Given the description of an element on the screen output the (x, y) to click on. 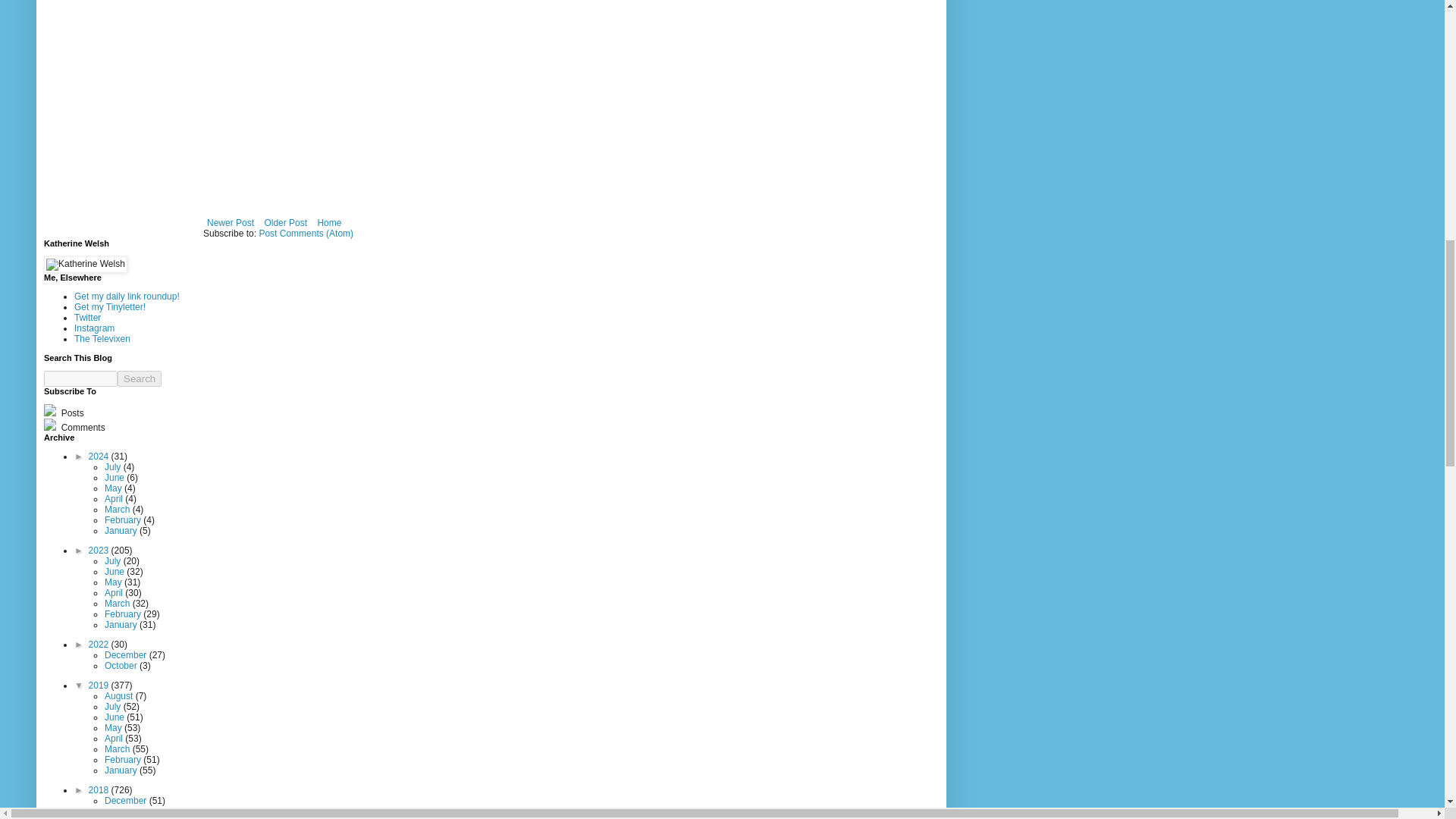
Home (329, 222)
Newer Post (230, 222)
Newer Post (230, 222)
search (80, 378)
Search (139, 378)
search (139, 378)
Older Post (285, 222)
Older Post (285, 222)
Search (139, 378)
